Given the description of an element on the screen output the (x, y) to click on. 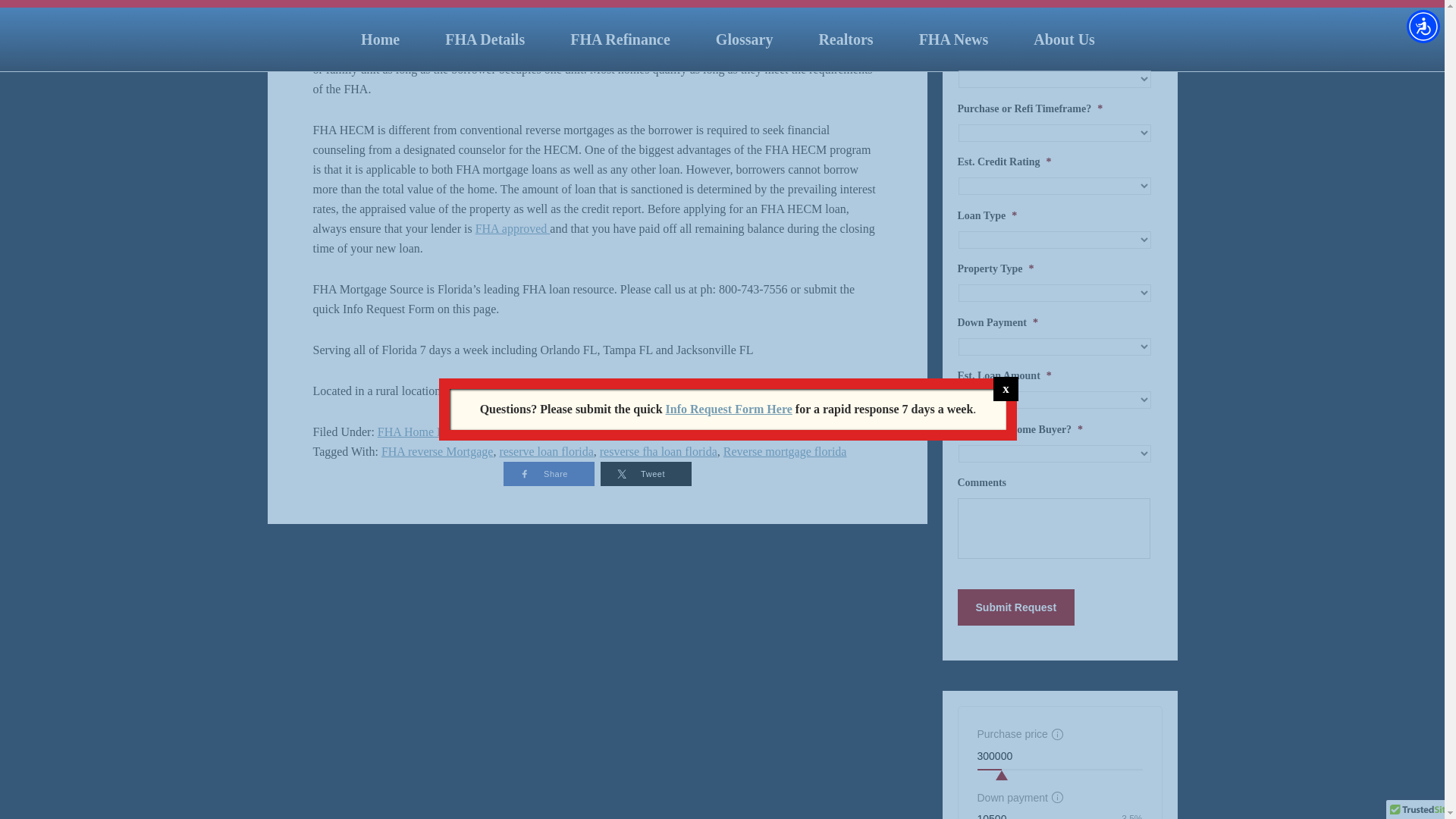
Submit Request (1015, 606)
